Given the description of an element on the screen output the (x, y) to click on. 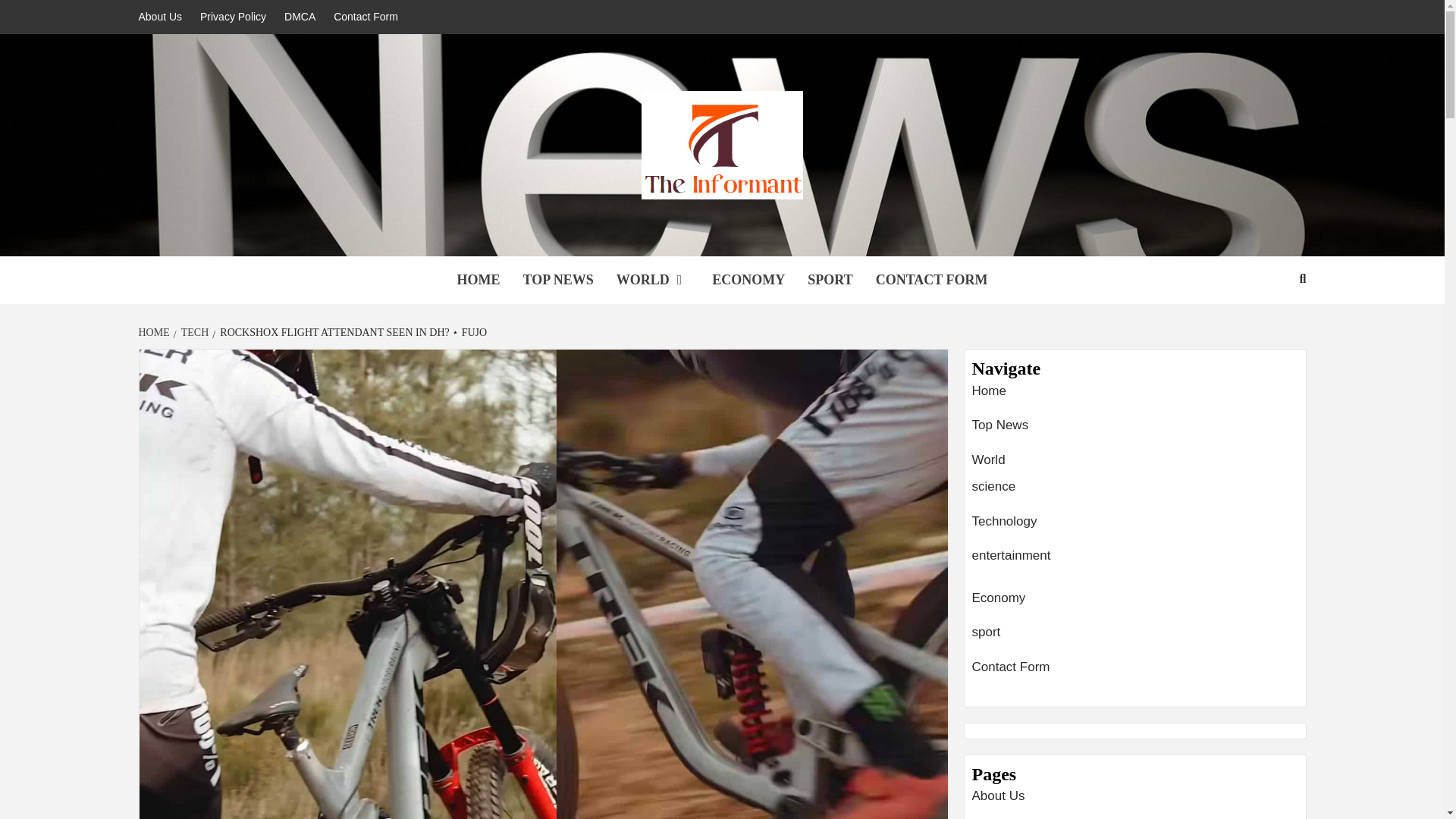
TECH (192, 332)
SPORT (829, 279)
HOME (478, 279)
Contact Form (366, 17)
TOP NEWS (557, 279)
Privacy Policy (232, 17)
About Us (163, 17)
CONTACT FORM (931, 279)
DMCA (299, 17)
THE INFORMANT (469, 236)
ECONOMY (748, 279)
HOME (155, 332)
WORLD (653, 279)
